Given the description of an element on the screen output the (x, y) to click on. 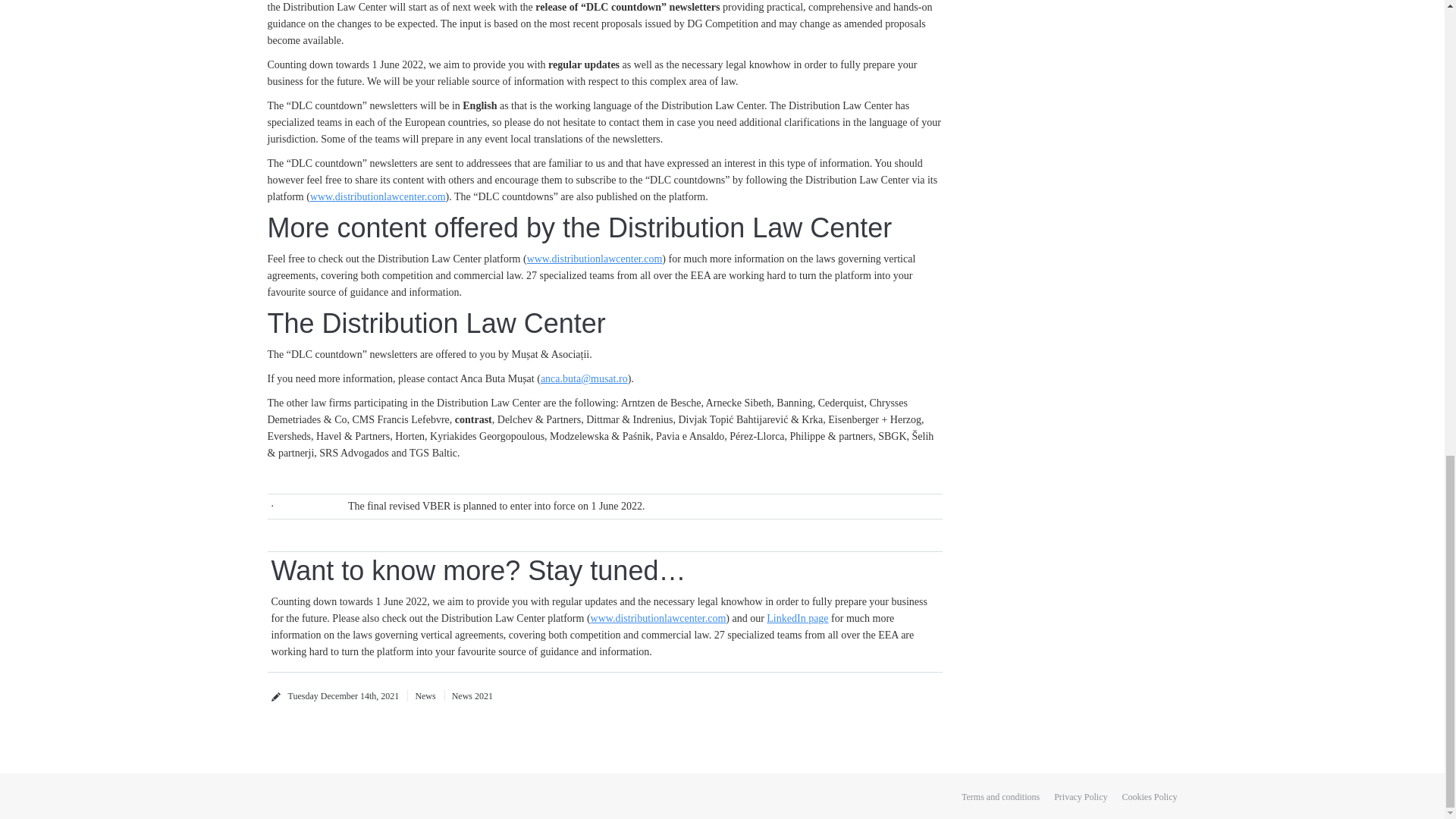
08:28 PM (343, 695)
Tuesday December 14th, 2021 (343, 695)
www.distributionlawcenter.com (658, 618)
LinkedIn page (797, 618)
www.distributionlawcenter.com (594, 258)
Terms and conditions (999, 795)
Cookies Policy (1148, 795)
News 2021 (468, 695)
News (421, 695)
Privacy Policy (1080, 795)
